Given the description of an element on the screen output the (x, y) to click on. 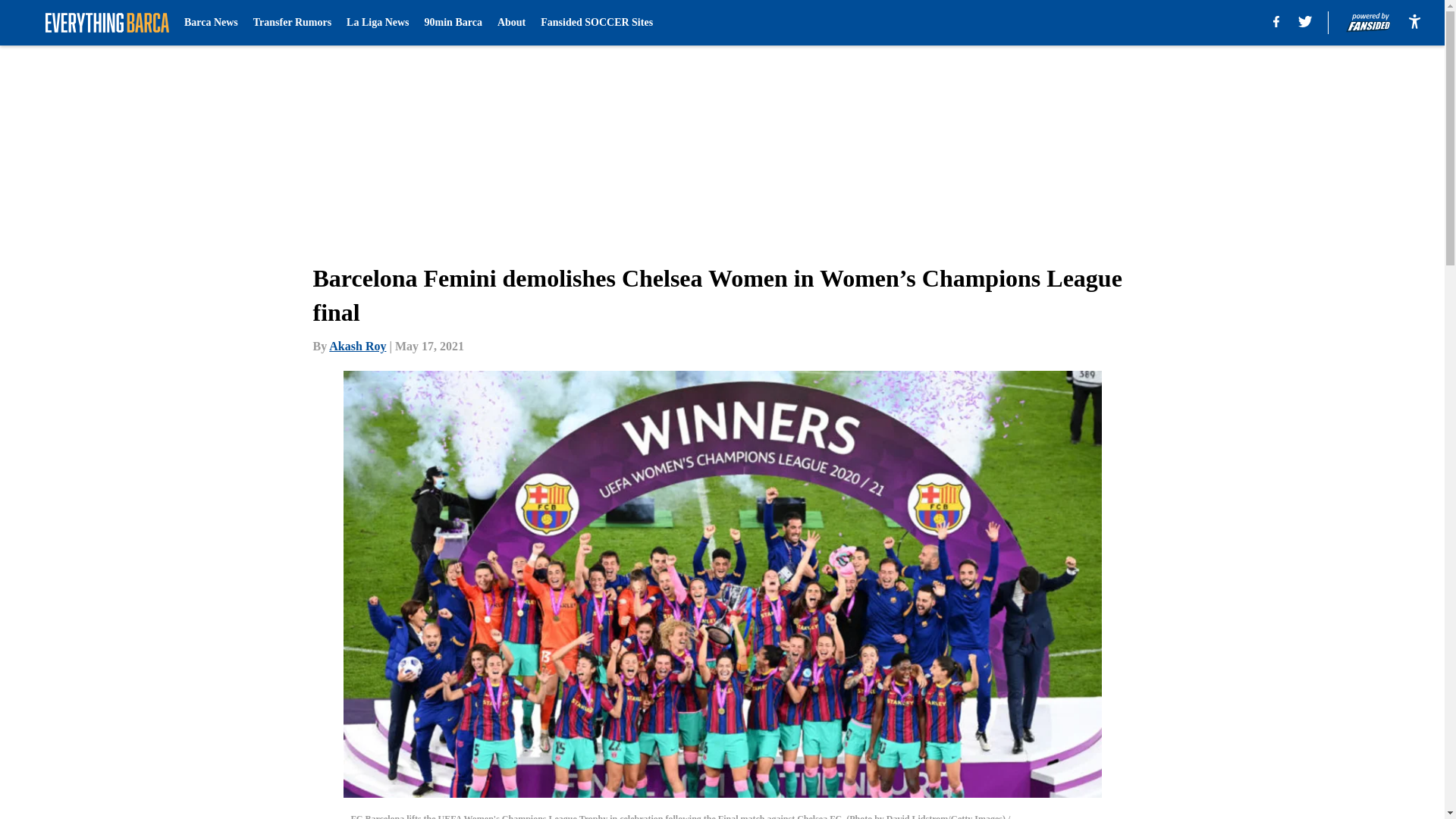
La Liga News (377, 22)
About (511, 22)
90min Barca (453, 22)
Fansided SOCCER Sites (596, 22)
Akash Roy (357, 345)
Barca News (211, 22)
Transfer Rumors (292, 22)
